Given the description of an element on the screen output the (x, y) to click on. 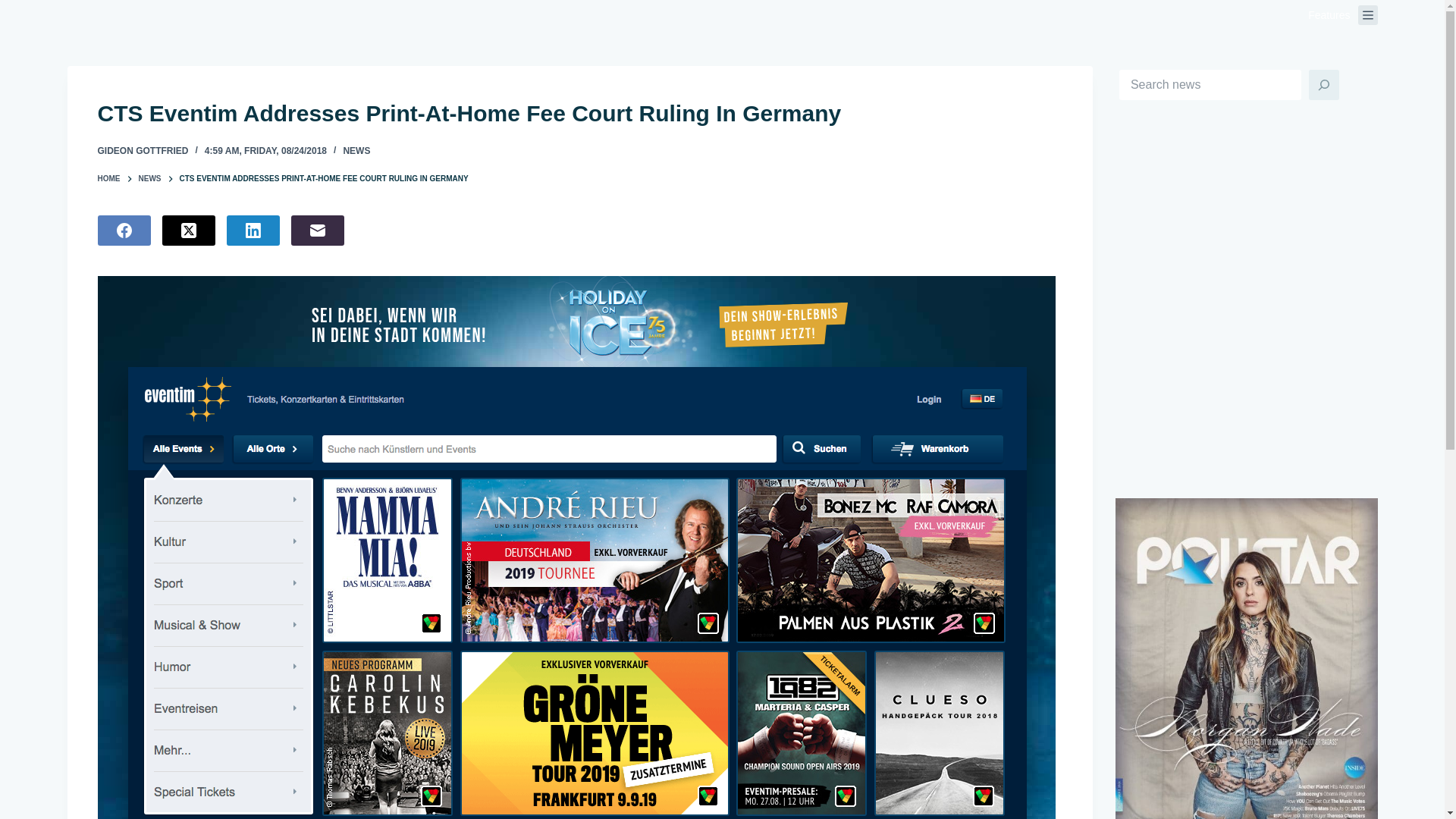
Posts by Gideon Gottfried (142, 150)
Skip to content (15, 7)
